Given the description of an element on the screen output the (x, y) to click on. 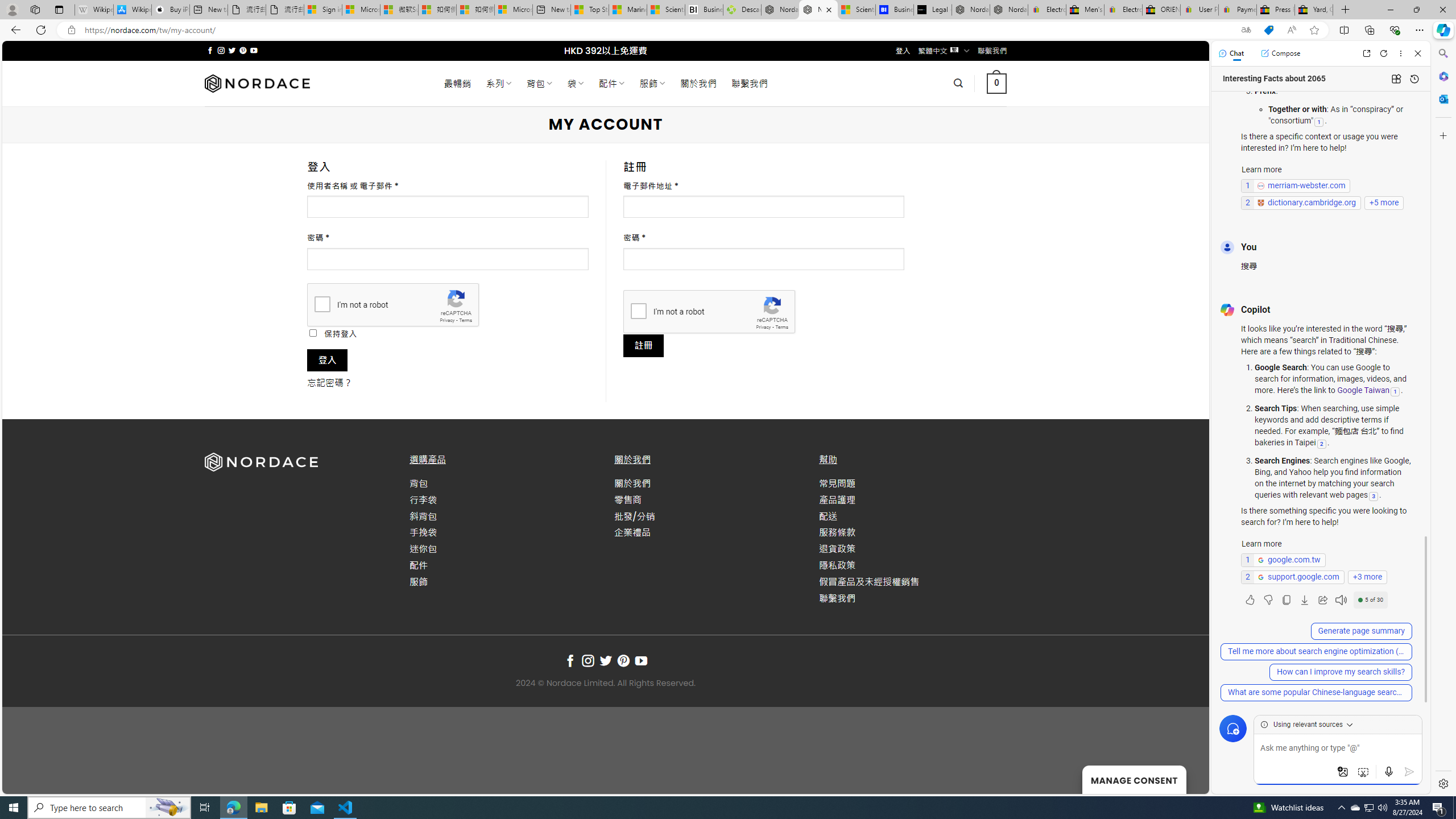
This site has coupons! Shopping in Microsoft Edge (1268, 29)
 0  (995, 83)
Nordace - My Account (818, 9)
